Given the description of an element on the screen output the (x, y) to click on. 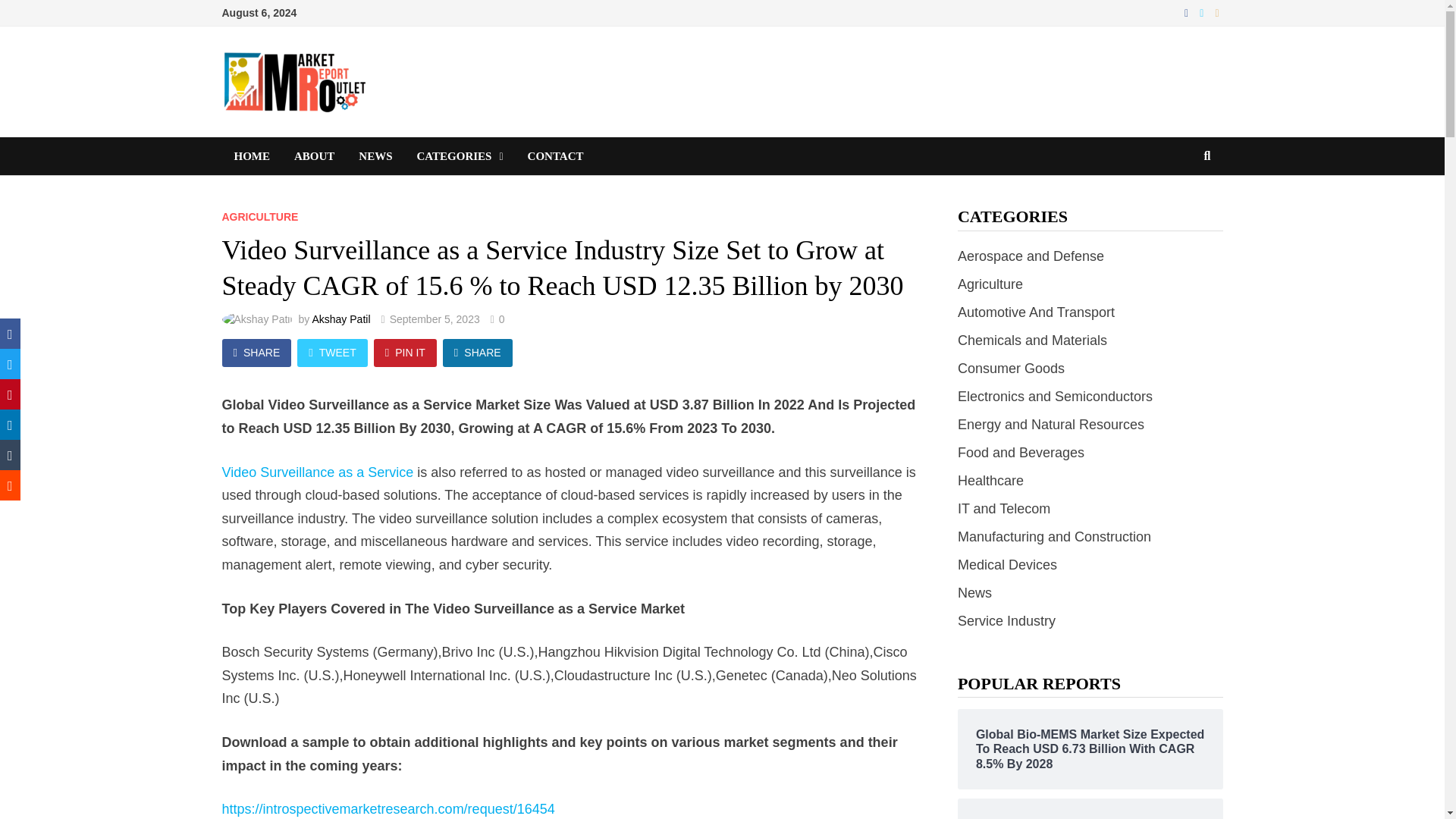
CATEGORIES (459, 156)
Facebook (1187, 11)
CONTACT (555, 156)
HOME (251, 156)
Twitter (1203, 11)
NEWS (375, 156)
ABOUT (314, 156)
